Given the description of an element on the screen output the (x, y) to click on. 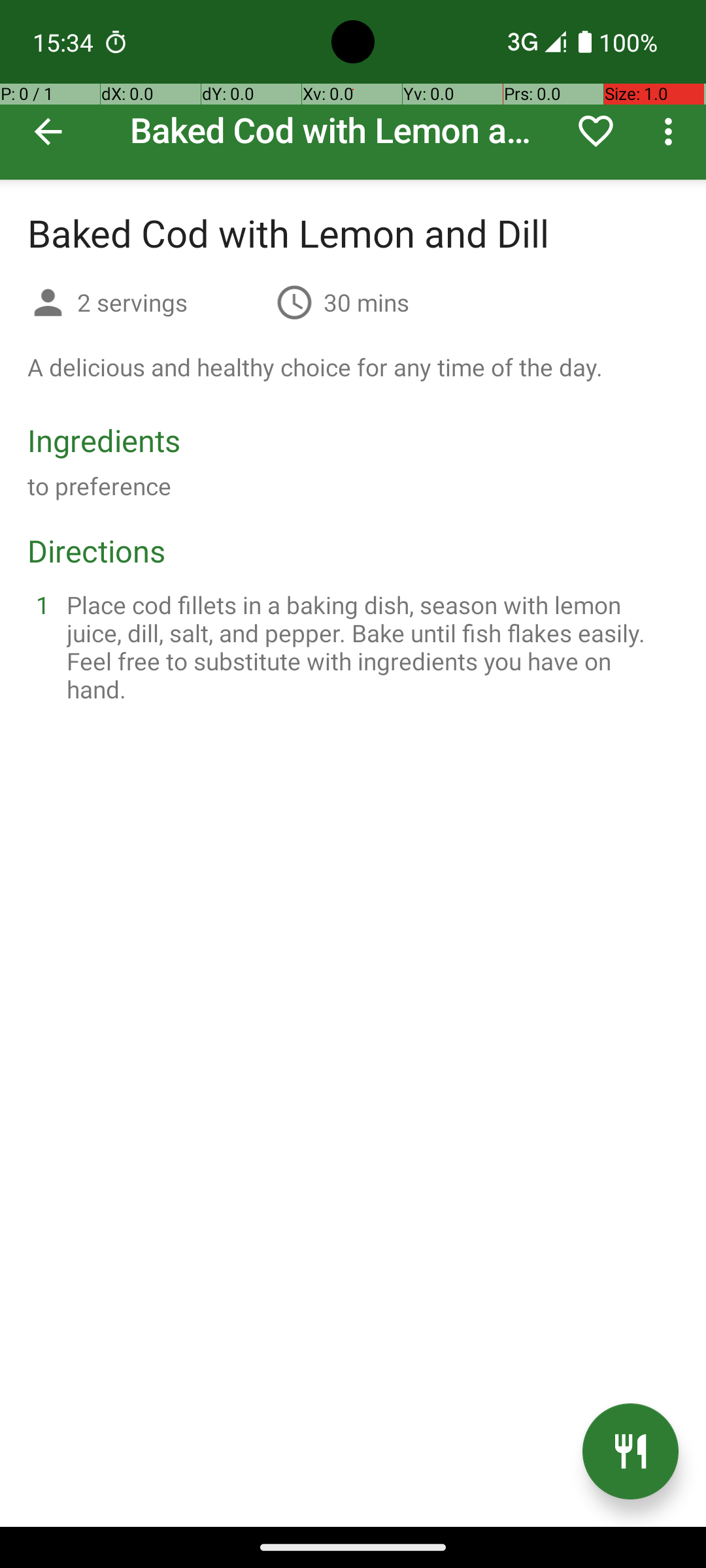
Place cod fillets in a baking dish, season with lemon juice, dill, salt, and pepper. Bake until fish flakes easily. Feel free to substitute with ingredients you have on hand. Element type: android.widget.TextView (368, 646)
